Given the description of an element on the screen output the (x, y) to click on. 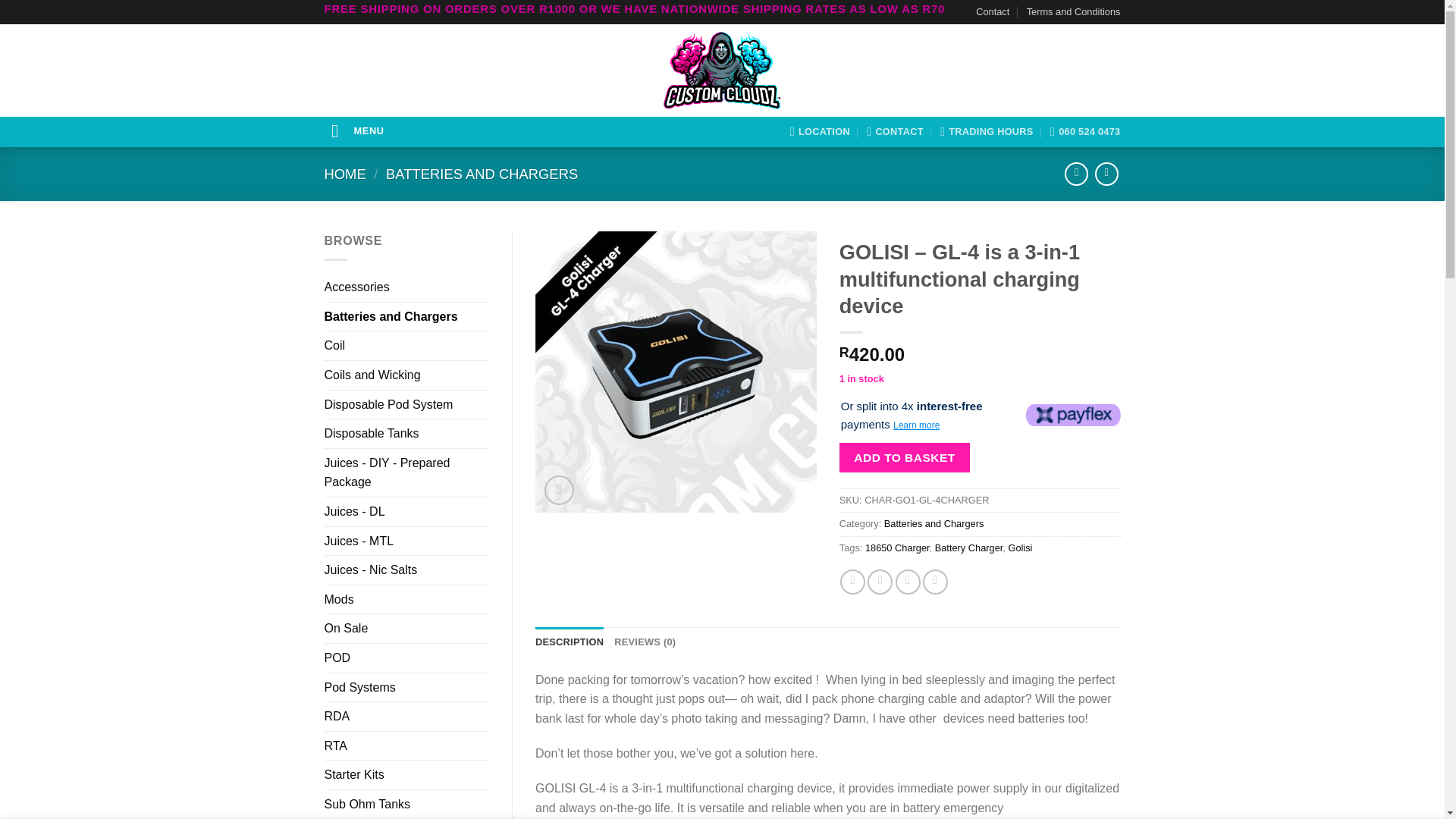
Terms and Conditions (1073, 11)
Accessories (406, 287)
Search (566, 70)
BATTERIES AND CHARGERS (481, 173)
Juices - Nic Salts (406, 570)
Juices - DIY - Prepared Package (406, 472)
MENU (357, 130)
Mods (406, 599)
TRADING HOURS (986, 132)
RDA (406, 716)
